Given the description of an element on the screen output the (x, y) to click on. 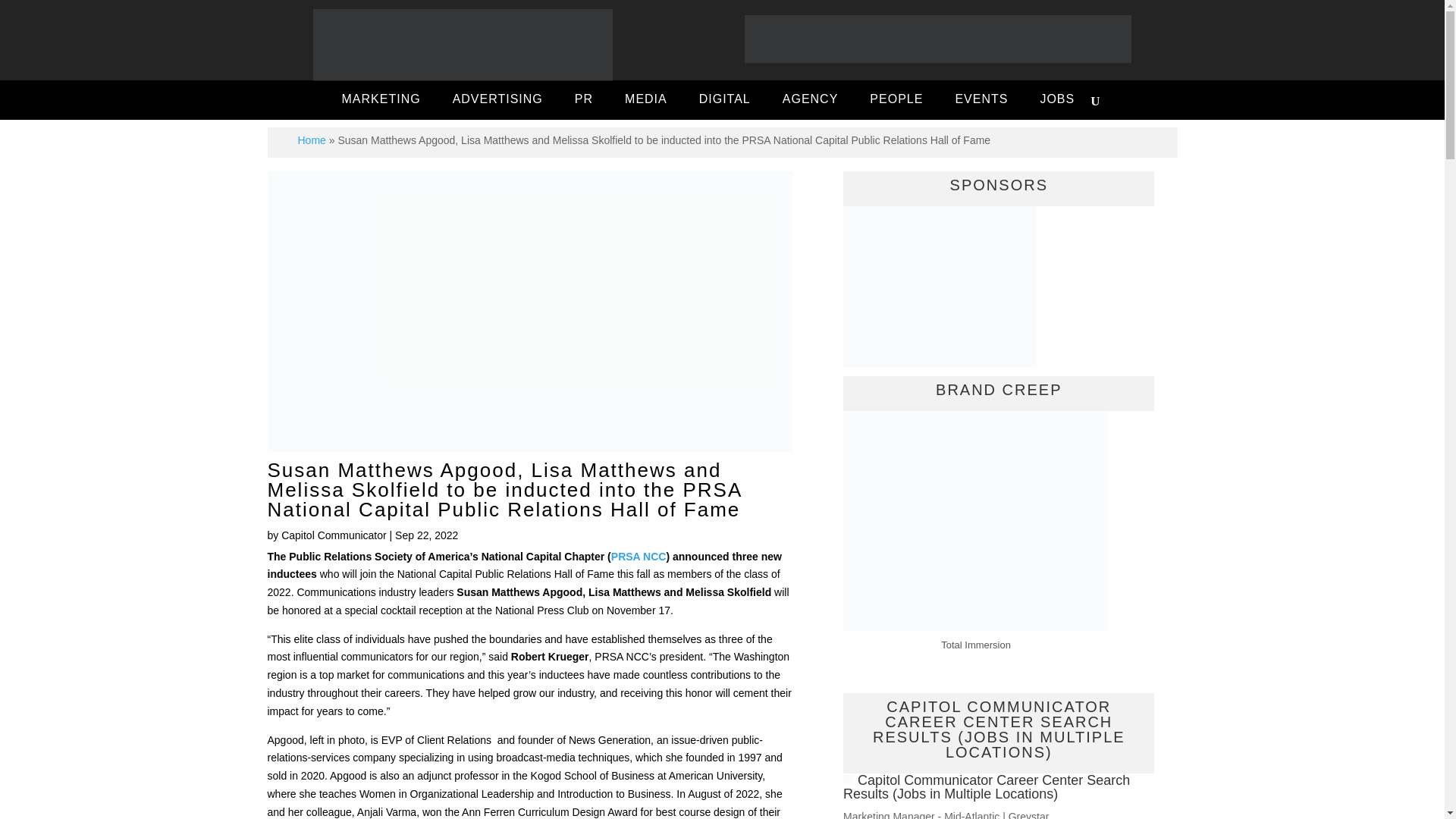
Home (310, 140)
JOBS (1056, 100)
DIGITAL (724, 100)
Capitol Communicator (334, 535)
Posts by Capitol Communicator (334, 535)
PRSA NCC (638, 556)
Williams Whittle (939, 286)
PEOPLE (895, 100)
MEDIA (646, 100)
AGENCY (809, 100)
ADVERTISING (497, 100)
MARKETING (381, 100)
EVENTS (980, 100)
PR (583, 100)
